Given the description of an element on the screen output the (x, y) to click on. 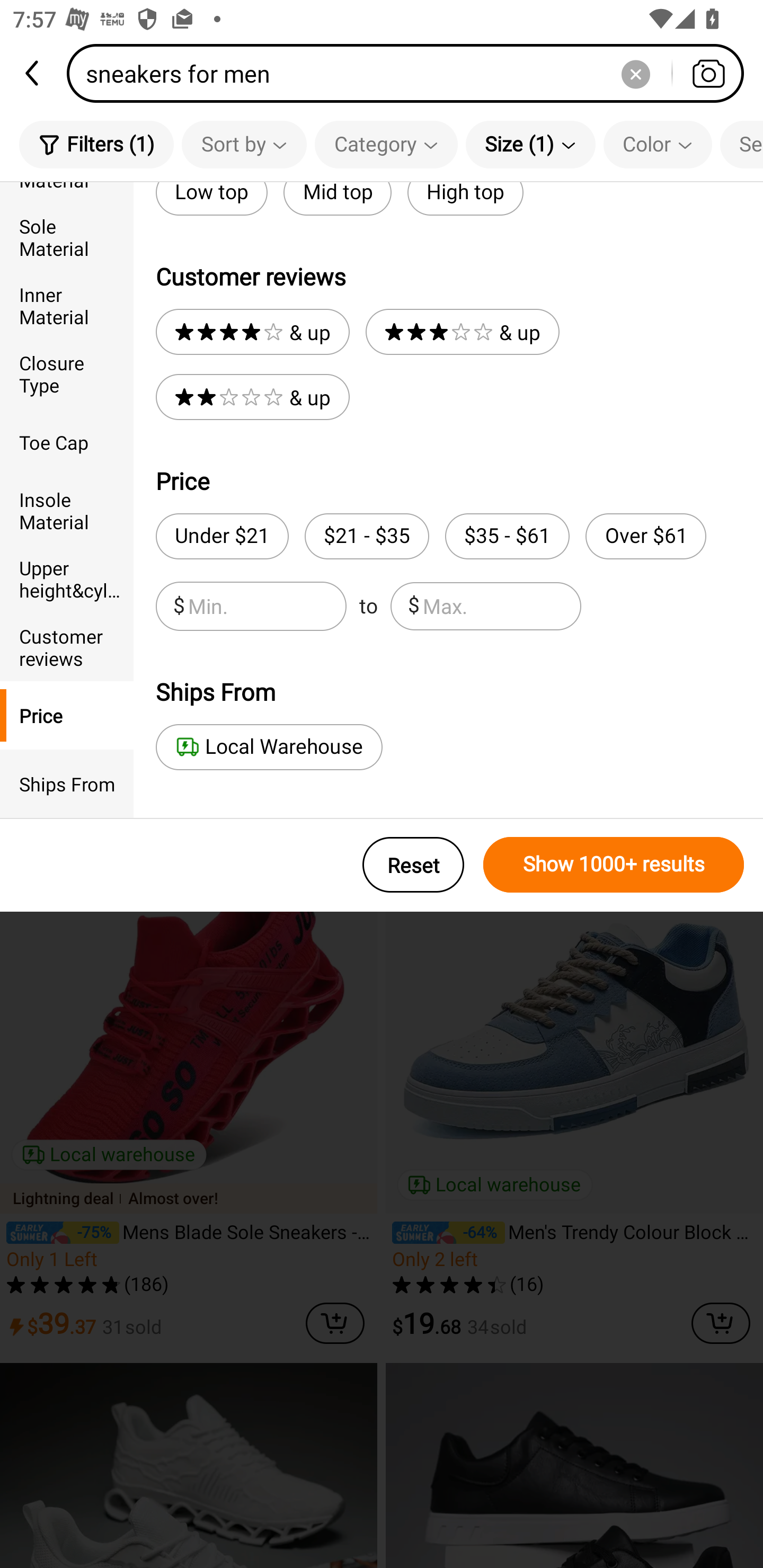
back (33, 72)
sneakers for men (411, 73)
Delete search history (635, 73)
Search by photo (708, 73)
Filters (1) (96, 143)
Sort by (243, 143)
Category (385, 143)
Size (1) (530, 143)
Color (657, 143)
Low top (211, 198)
Mid top (337, 198)
High top (465, 198)
Sole Material (66, 236)
Inner Material (66, 305)
& up (252, 331)
& up (462, 331)
Closure Type (66, 373)
& up (252, 397)
Toe Cap (66, 441)
Insole Material (66, 510)
Under $21 (221, 535)
$21 - $35 (366, 535)
$35 - $61 (506, 535)
Over $61 (645, 535)
Upper height&cylinder height (66, 578)
$ Min. to $ Max. (368, 605)
Customer reviews (66, 646)
Price (66, 714)
Local Warehouse (268, 746)
Ships From (66, 783)
Reset (412, 864)
Show 1000+ results (612, 864)
